Given the description of an element on the screen output the (x, y) to click on. 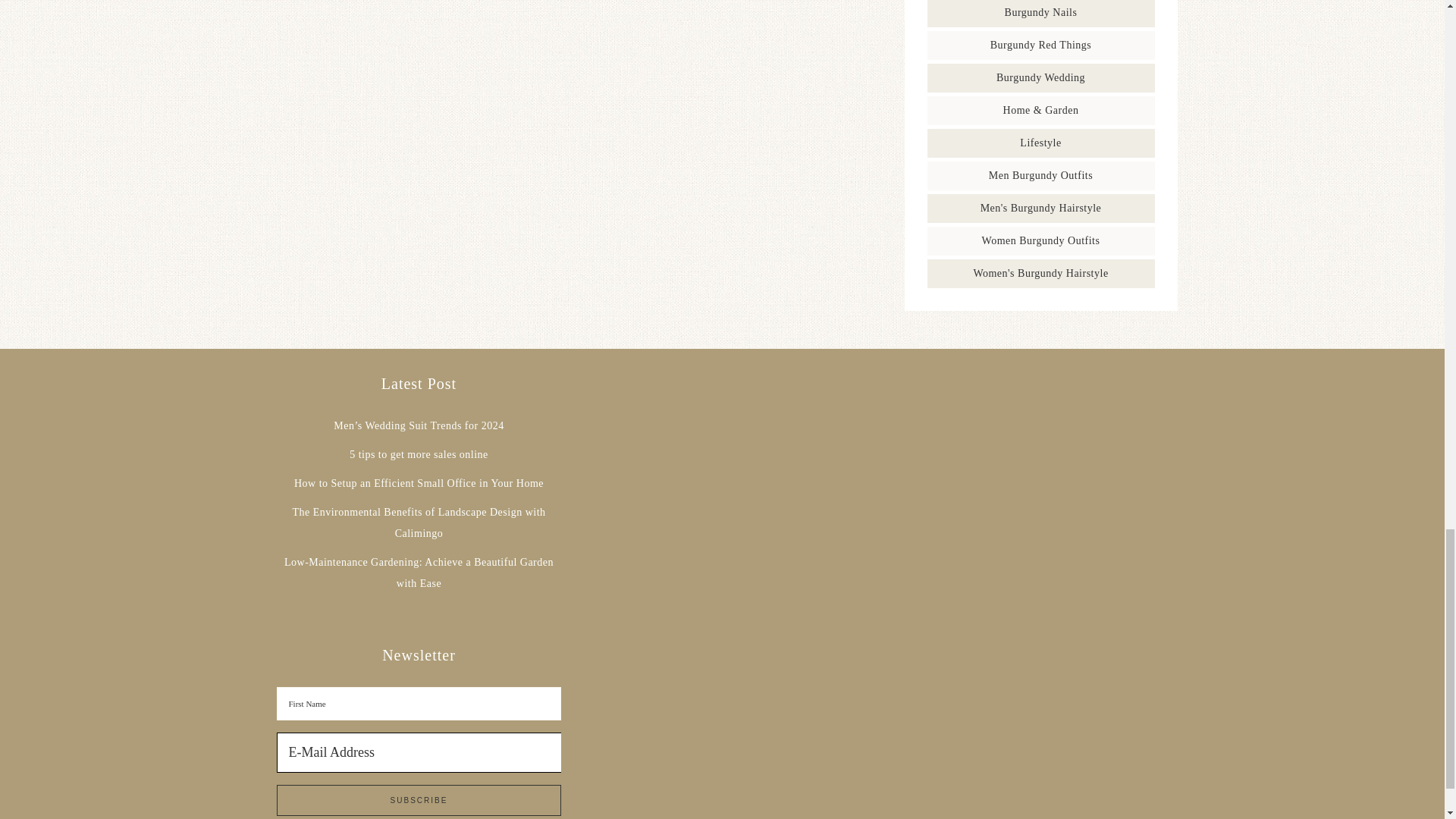
Women Burgundy Outfits (1040, 240)
Subscribe (418, 799)
Burgundy Wedding (1039, 77)
Burgundy Red Things (1040, 44)
Burgundy Nails (1040, 12)
Men's Burgundy Hairstyle (1040, 207)
Lifestyle (1040, 142)
Women's Burgundy Hairstyle (1040, 273)
Men Burgundy Outfits (1040, 174)
